Given the description of an element on the screen output the (x, y) to click on. 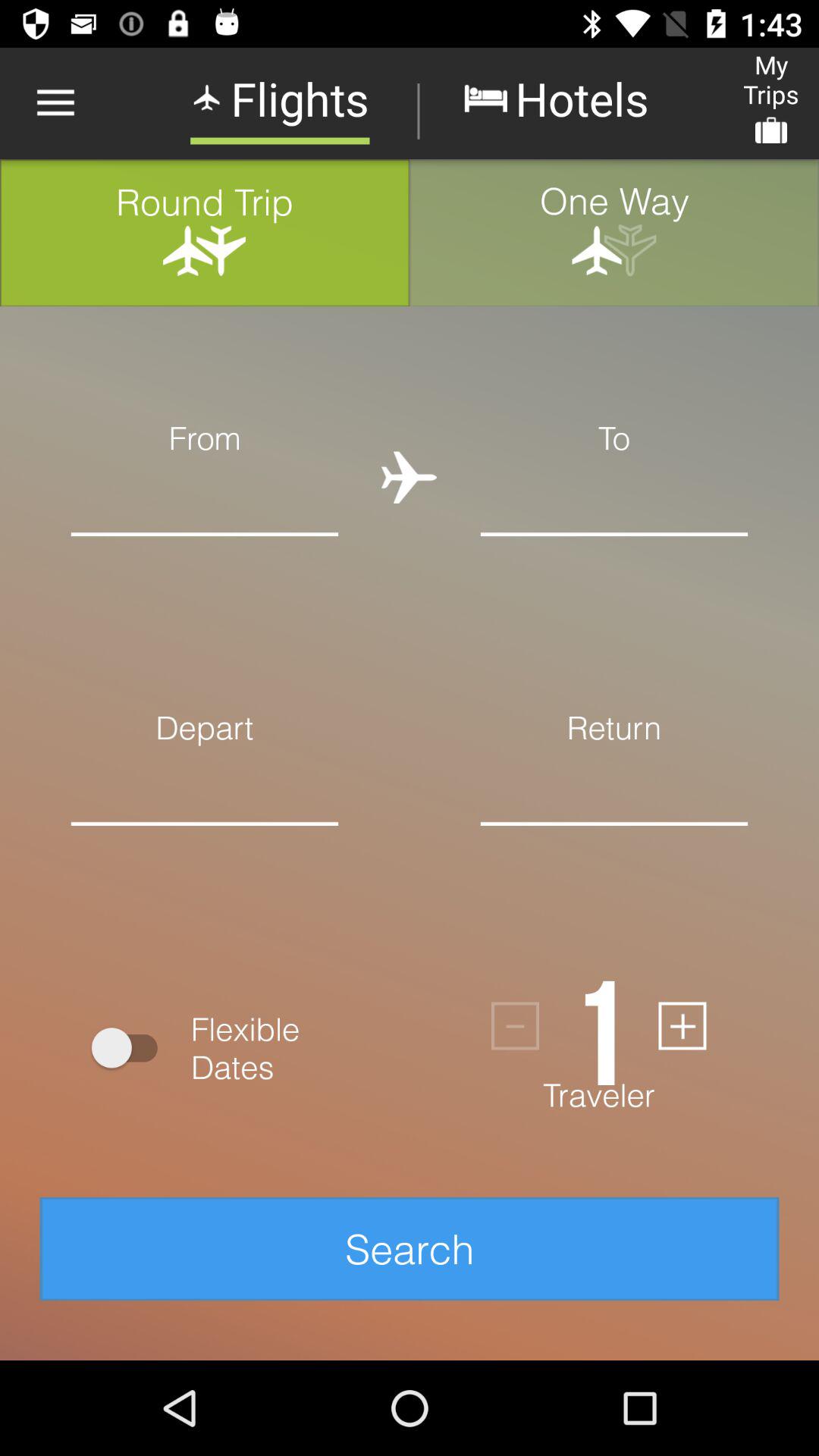
open the icon above 1 item (613, 847)
